Given the description of an element on the screen output the (x, y) to click on. 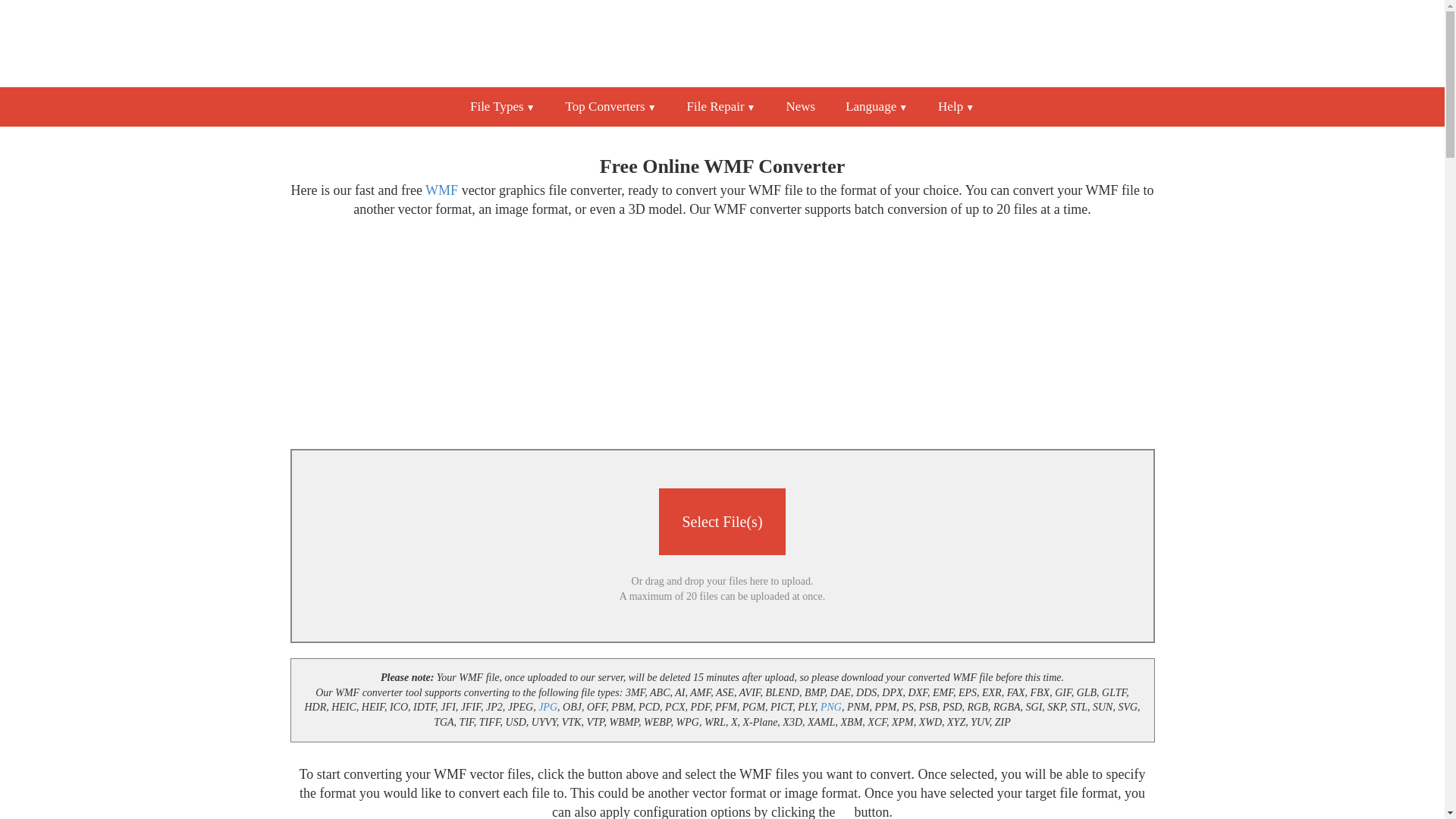
File Types (610, 106)
Top Converters (610, 106)
News (799, 106)
Help (956, 106)
FabConvert.com (722, 42)
File Repair (721, 106)
File Types (502, 106)
File Repair (721, 106)
Language (876, 106)
File Types (502, 106)
